Given the description of an element on the screen output the (x, y) to click on. 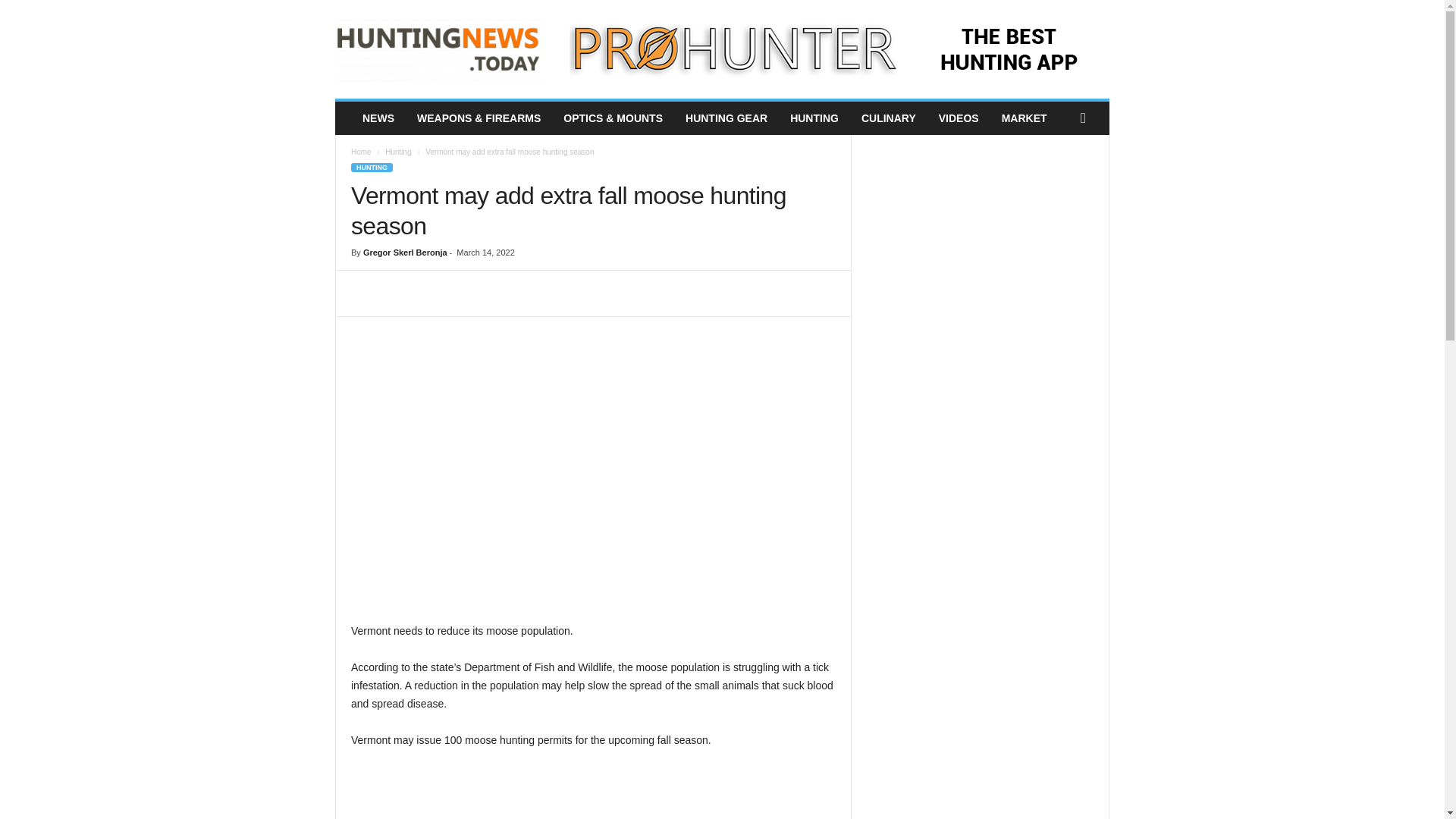
Home (360, 152)
NEWS (378, 118)
VIDEOS (958, 118)
HUNTING GEAR (726, 118)
View all posts in Hunting (397, 152)
HUNTING (814, 118)
Hunting (397, 152)
CULINARY (888, 118)
HUNTING (371, 166)
Gregor Skerl Beronja (404, 252)
